Given the description of an element on the screen output the (x, y) to click on. 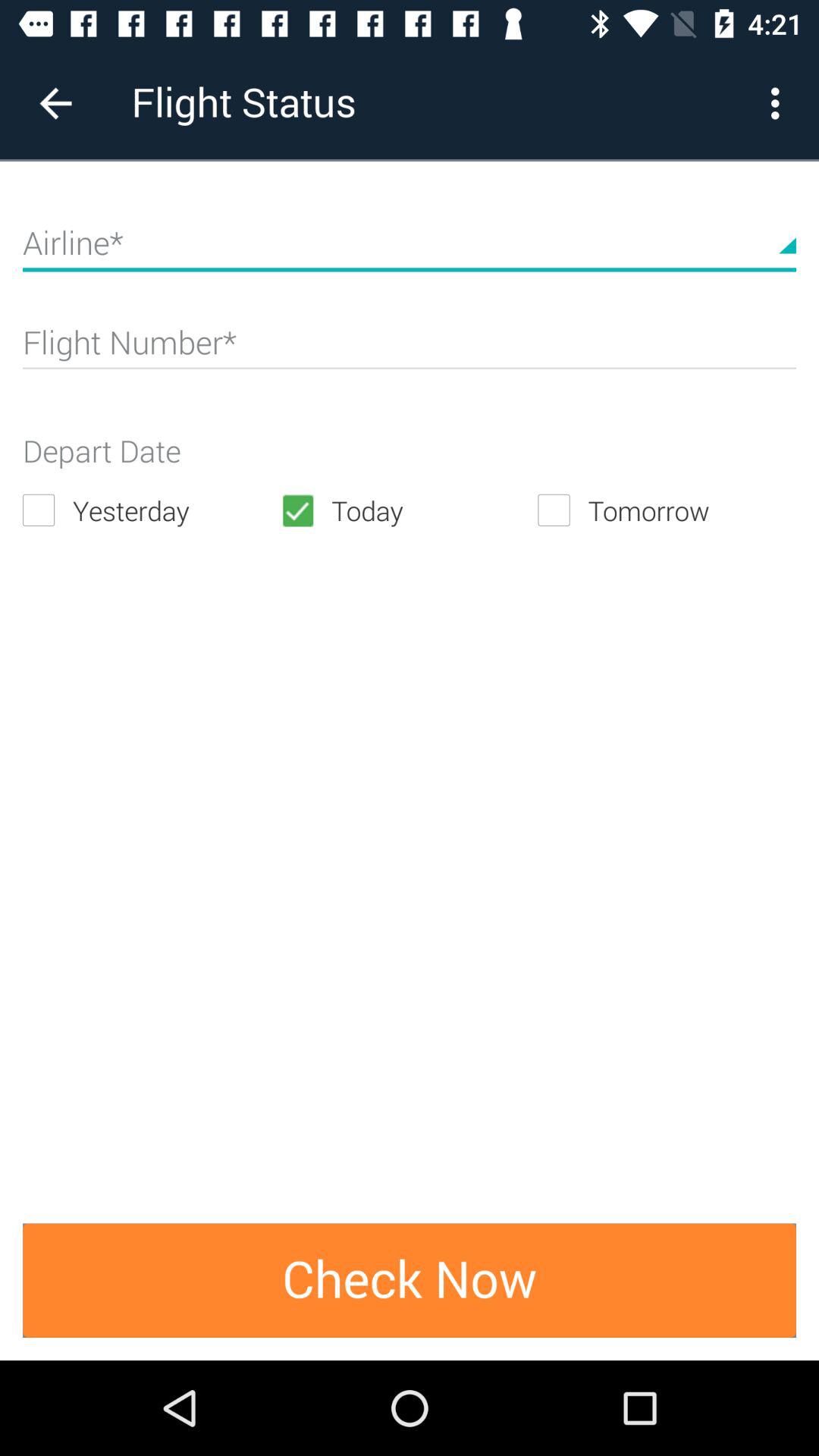
open icon above the check now (151, 510)
